Given the description of an element on the screen output the (x, y) to click on. 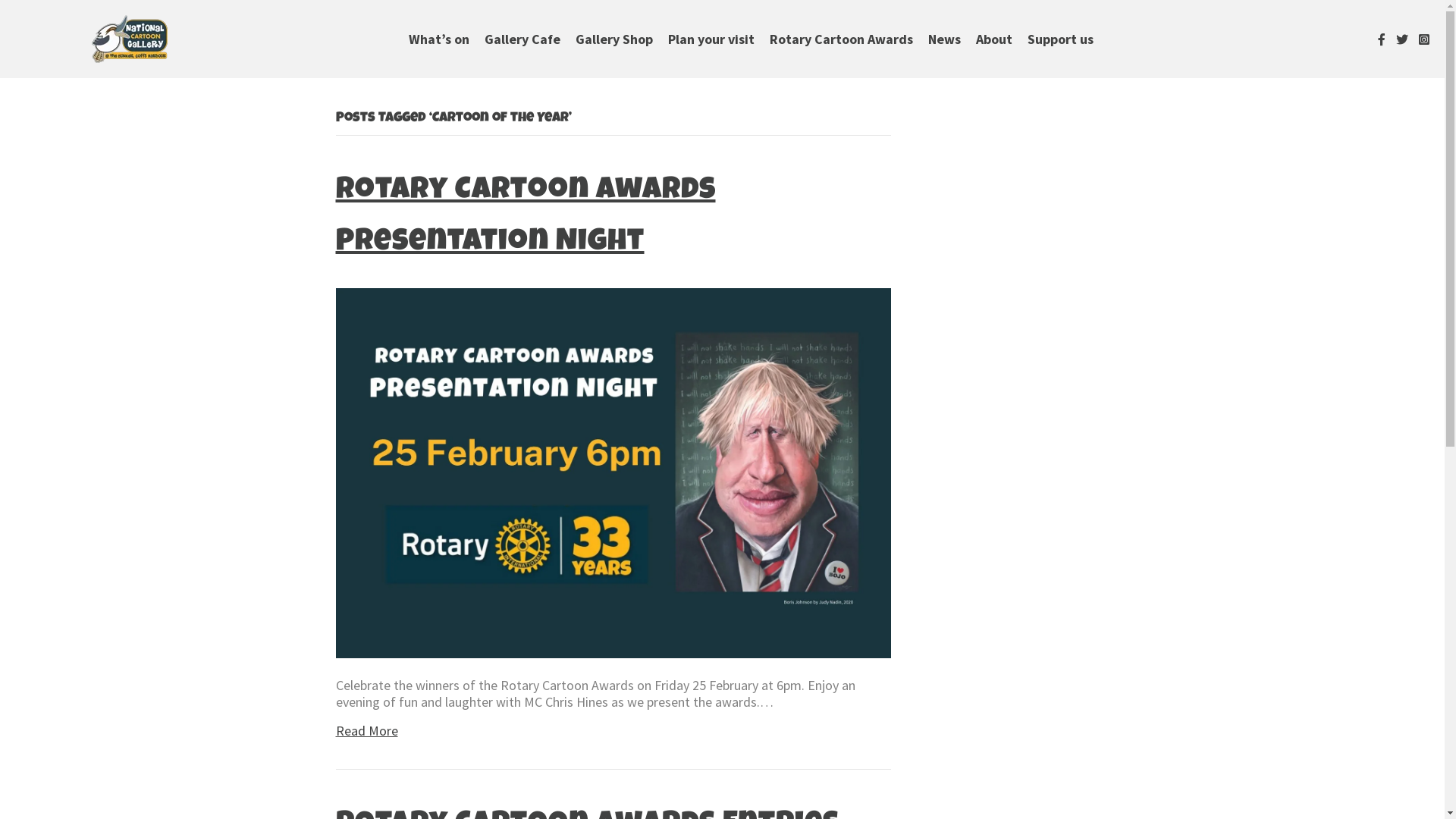
Rotary Cartoon Awards Element type: text (841, 39)
Rotary Cartoon Awards Presentation Night Element type: hover (613, 471)
Gallery Cafe Element type: text (521, 39)
Support us Element type: text (1060, 39)
About Element type: text (993, 39)
National Cartoon Gallery Logo 100x62 Element type: hover (129, 38)
Read More Element type: text (366, 730)
News Element type: text (944, 39)
Gallery Shop Element type: text (613, 39)
Plan your visit Element type: text (711, 39)
Rotary Cartoon Awards Presentation Night Element type: text (525, 217)
